Given the description of an element on the screen output the (x, y) to click on. 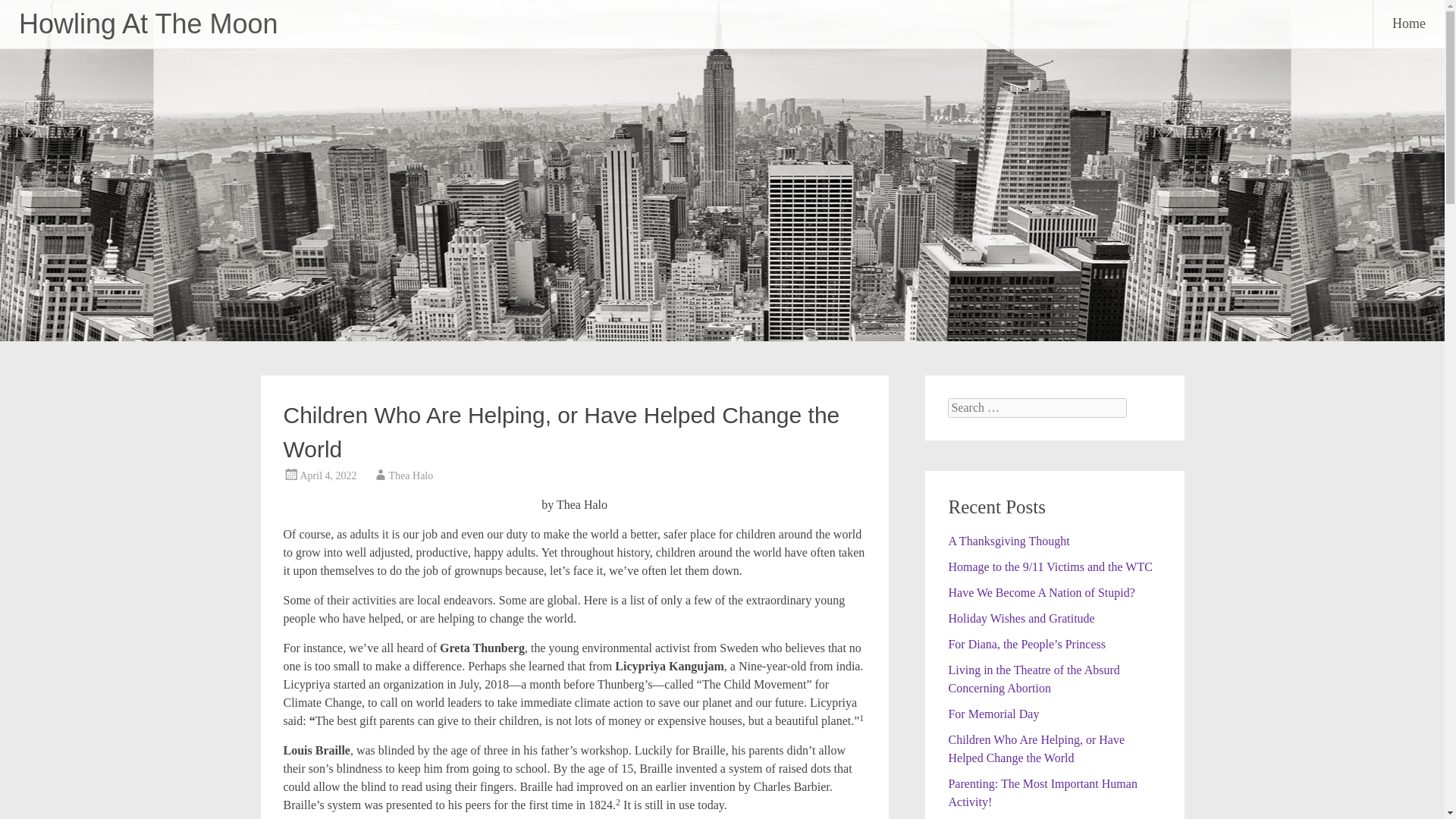
Howling At The Moon (148, 23)
Search (26, 12)
Howling At The Moon (148, 23)
For Memorial Day (993, 713)
Living in the Theatre of the Absurd Concerning Abortion  (1033, 678)
Holiday Wishes and Gratitude (1020, 617)
April 4, 2022 (327, 475)
Parenting: The Most Important Human Activity! (1042, 792)
Have We Become A Nation of Stupid? (1040, 592)
A Thanksgiving Thought (1007, 540)
Thea Halo (410, 475)
Children Who Are Helping, or Have Helped Change the World (1035, 748)
